Given the description of an element on the screen output the (x, y) to click on. 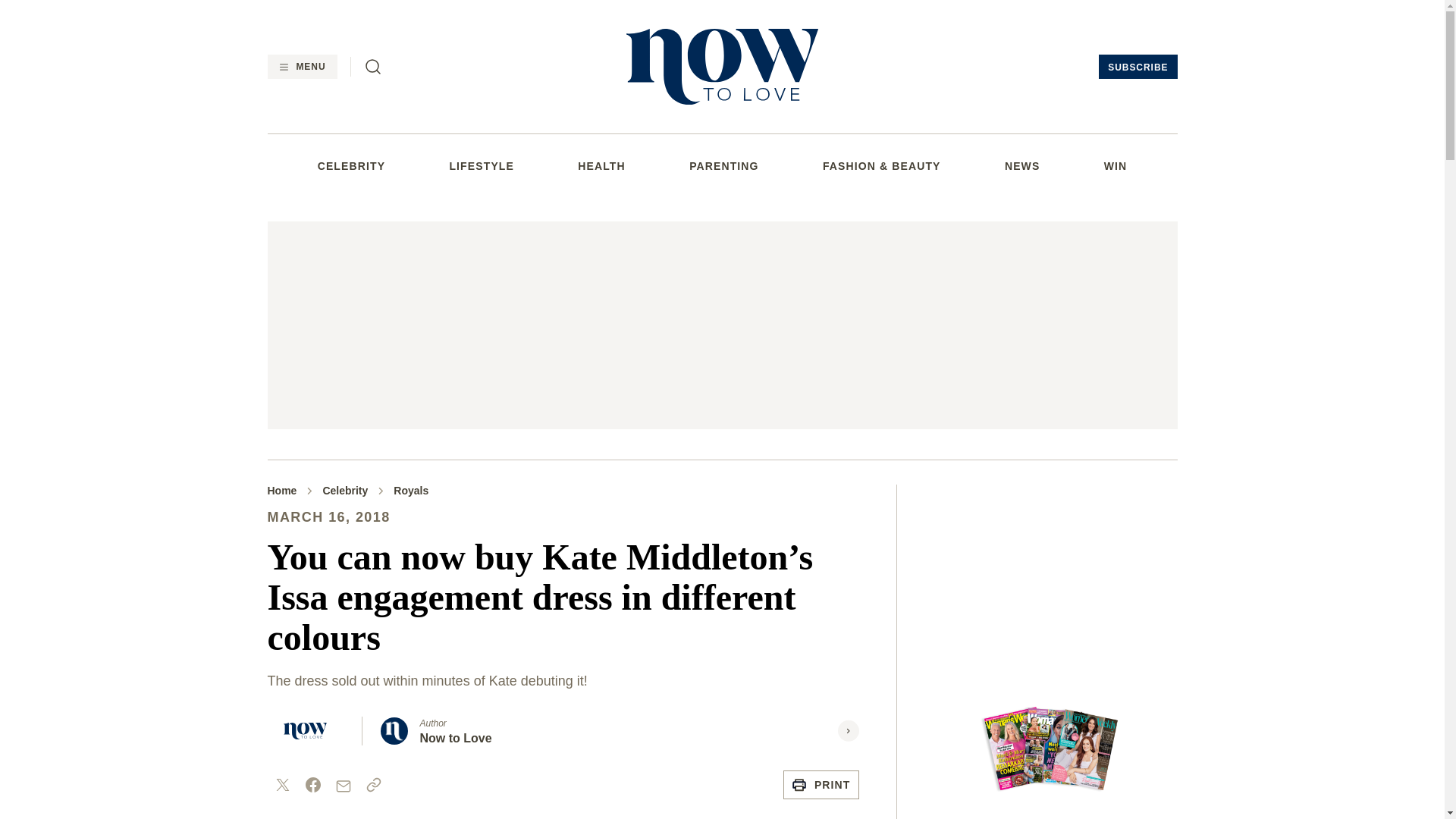
PARENTING (723, 165)
SUBSCRIBE (1137, 66)
MENU (301, 66)
NEWS (1021, 165)
WIN (1114, 165)
HEALTH (601, 165)
CELEBRITY (351, 165)
LIFESTYLE (480, 165)
